Given the description of an element on the screen output the (x, y) to click on. 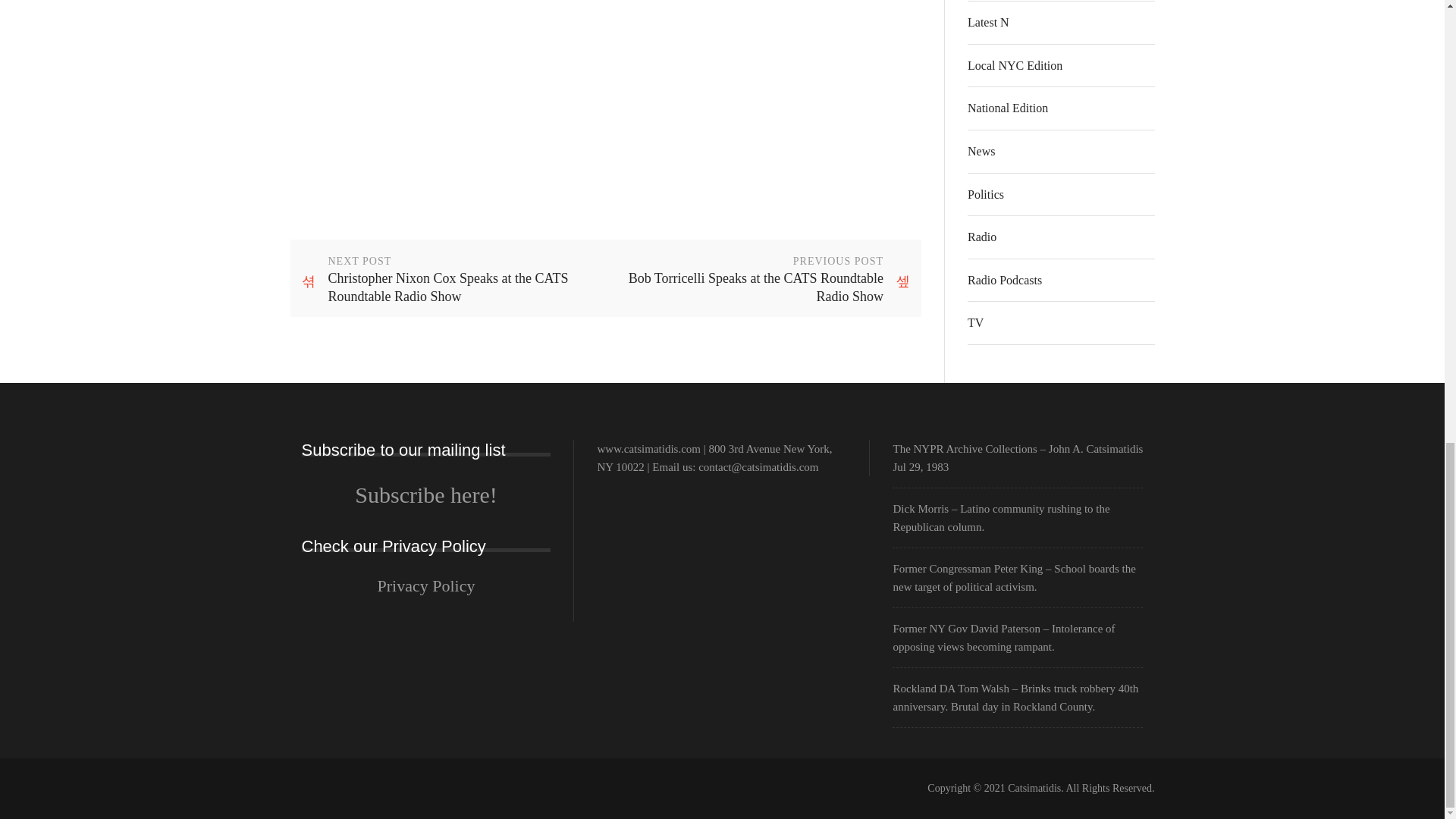
Bob Torricelli Speaks at the CATS Roundtable Radio Show (748, 277)
